Given the description of an element on the screen output the (x, y) to click on. 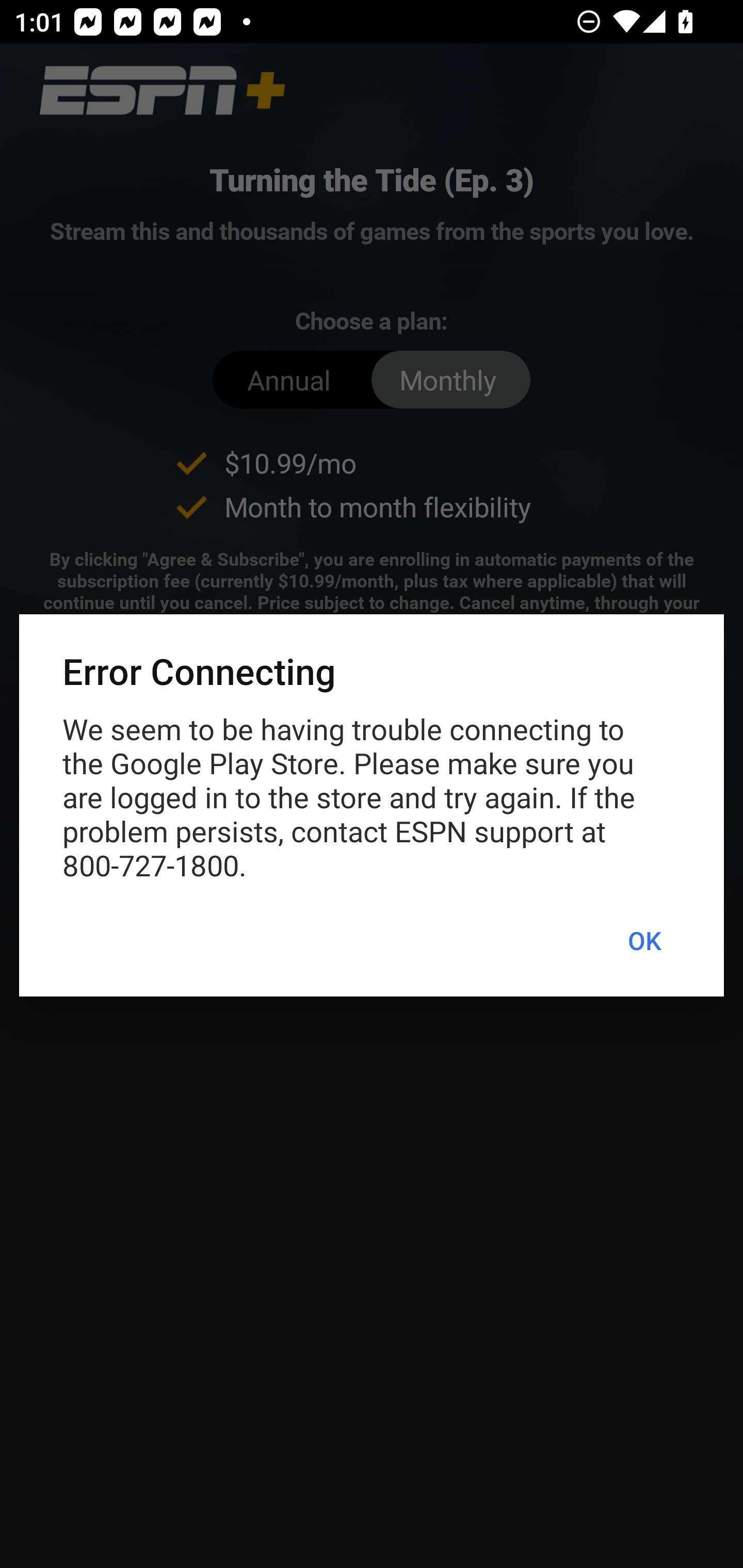
OK (644, 940)
